Given the description of an element on the screen output the (x, y) to click on. 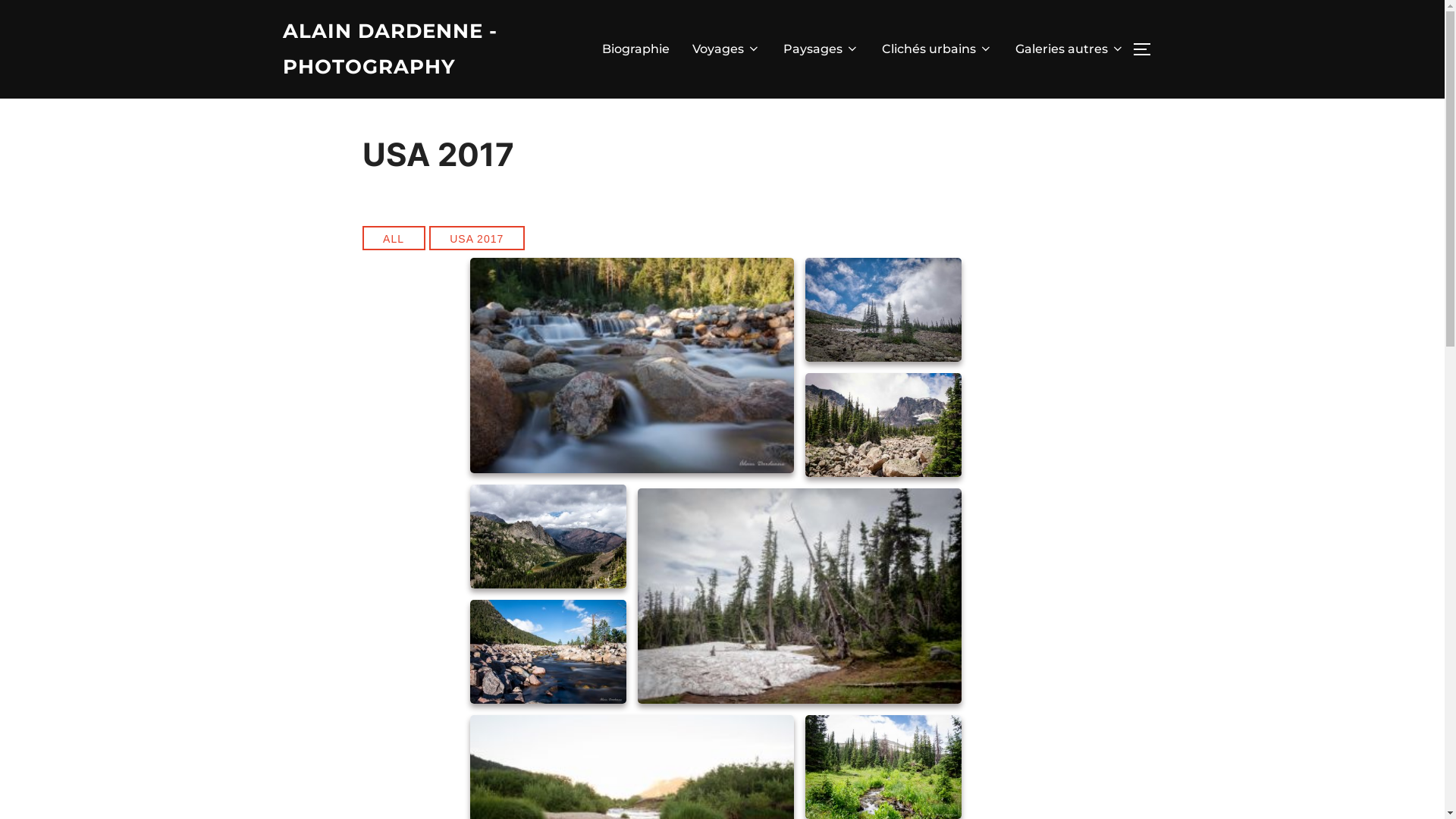
Paysages Element type: text (820, 48)
Galeries autres Element type: text (1068, 48)
Rocky Mountains-6713 Element type: hover (548, 651)
Voyages Element type: text (725, 48)
Rocky Mountains-6722 Element type: hover (631, 365)
Rocky Mountains Element type: hover (883, 309)
Mountains Fern Lake Trail Element type: hover (799, 596)
Mountains Fern Lake Trail Element type: hover (799, 595)
ALL Element type: text (393, 237)
Rocky Mountains-6722 Element type: hover (631, 365)
Rocky Mountains--2 Element type: hover (883, 424)
Biographie Element type: text (635, 48)
USA 2017 Element type: text (476, 237)
Rocky Mountains--3 Element type: hover (548, 536)
ALAIN DARDENNE - PHOTOGRAPHY Element type: text (414, 48)
